Given the description of an element on the screen output the (x, y) to click on. 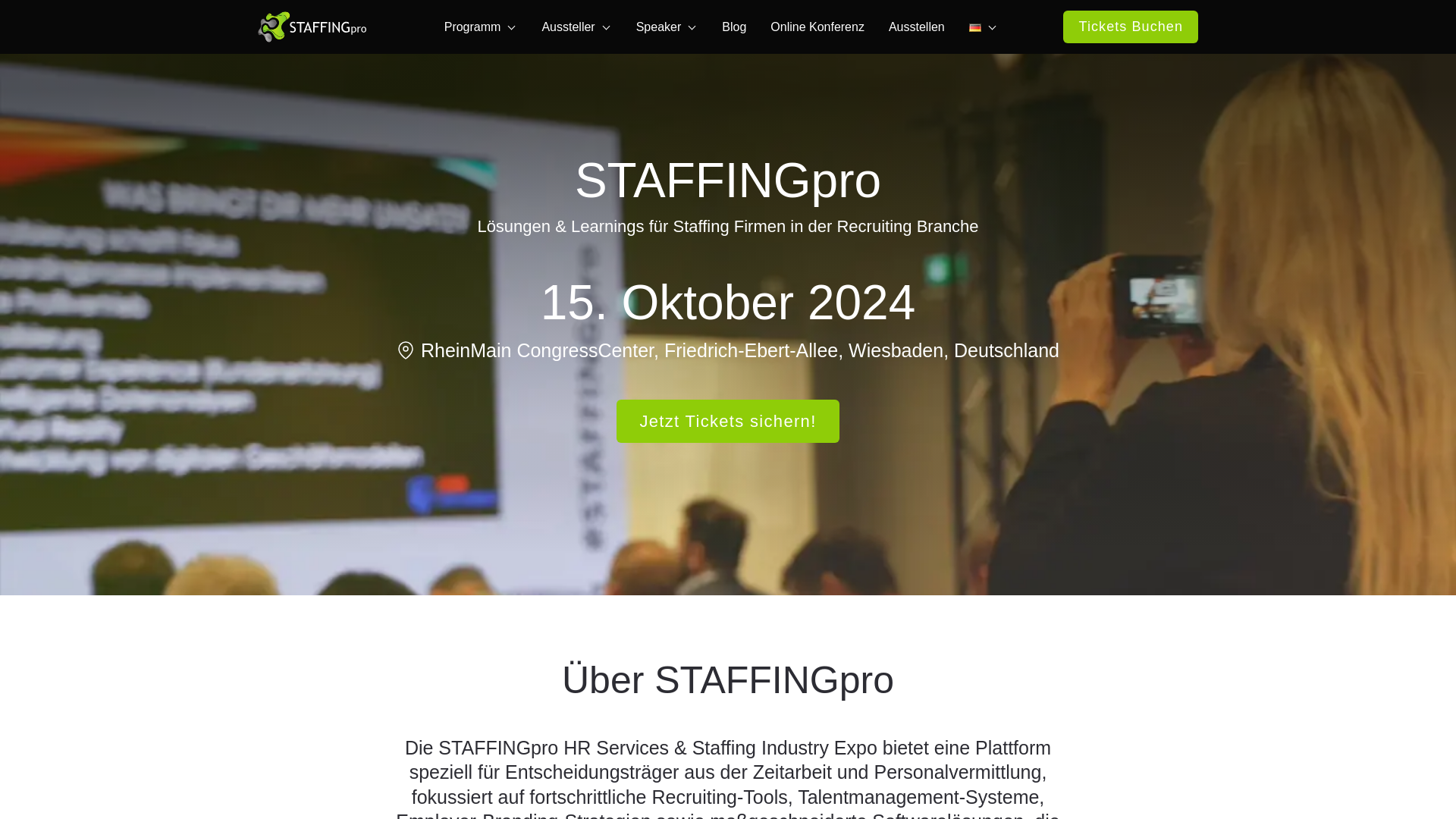
Aussteller (576, 26)
Tickets Buchen (1130, 26)
Online Konferenz (817, 26)
Speaker (667, 26)
Blog (734, 26)
Programm (481, 26)
Ausstellen (916, 26)
Jetzt Tickets sichern! (726, 421)
